Given the description of an element on the screen output the (x, y) to click on. 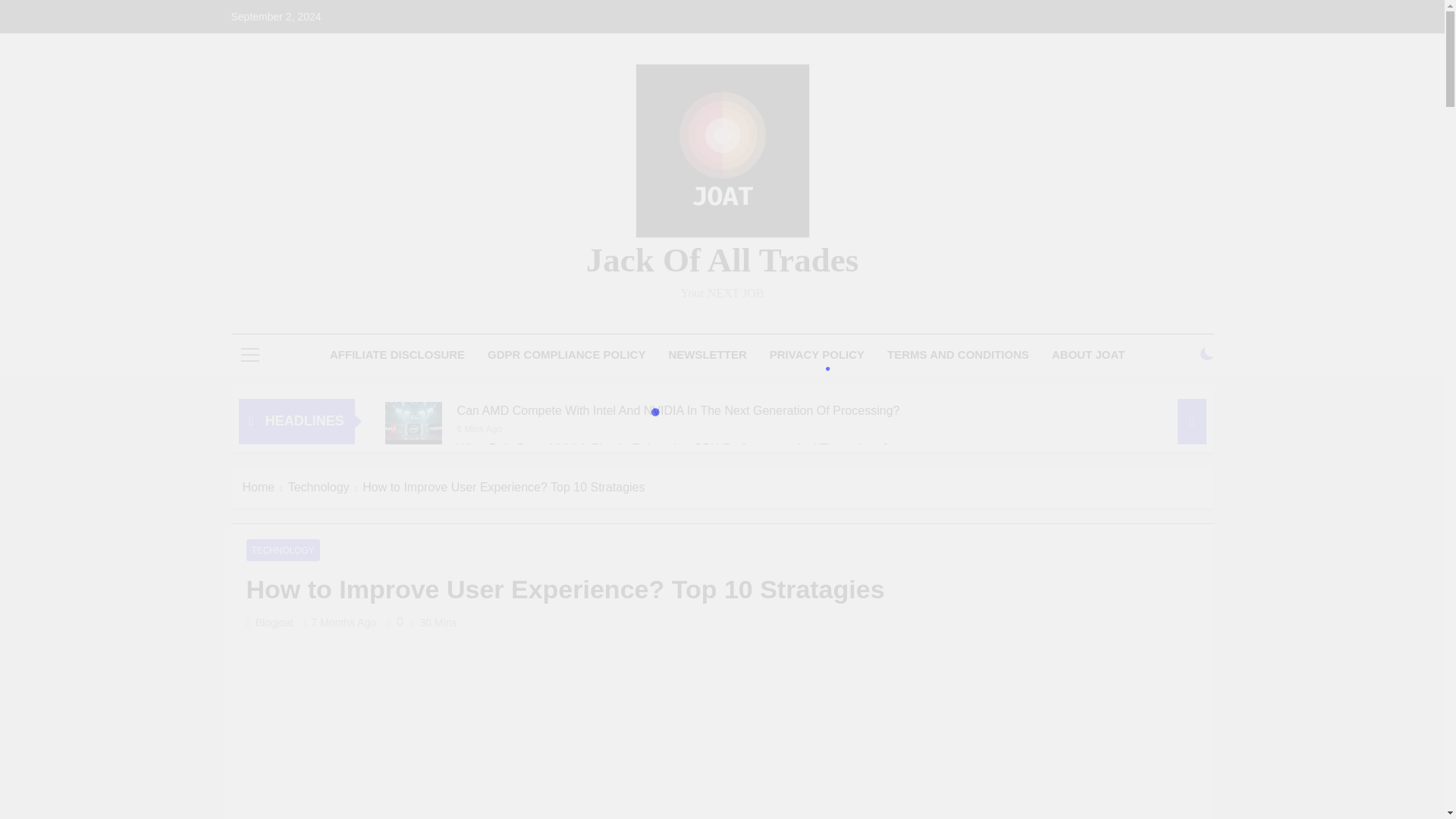
Blogjoat (275, 622)
TERMS AND CONDITIONS (958, 354)
Home (265, 487)
AFFILIATE DISCLOSURE (397, 354)
GDPR COMPLIANCE POLICY (566, 354)
ABOUT JOAT (1088, 354)
NEWSLETTER (706, 354)
